Given the description of an element on the screen output the (x, y) to click on. 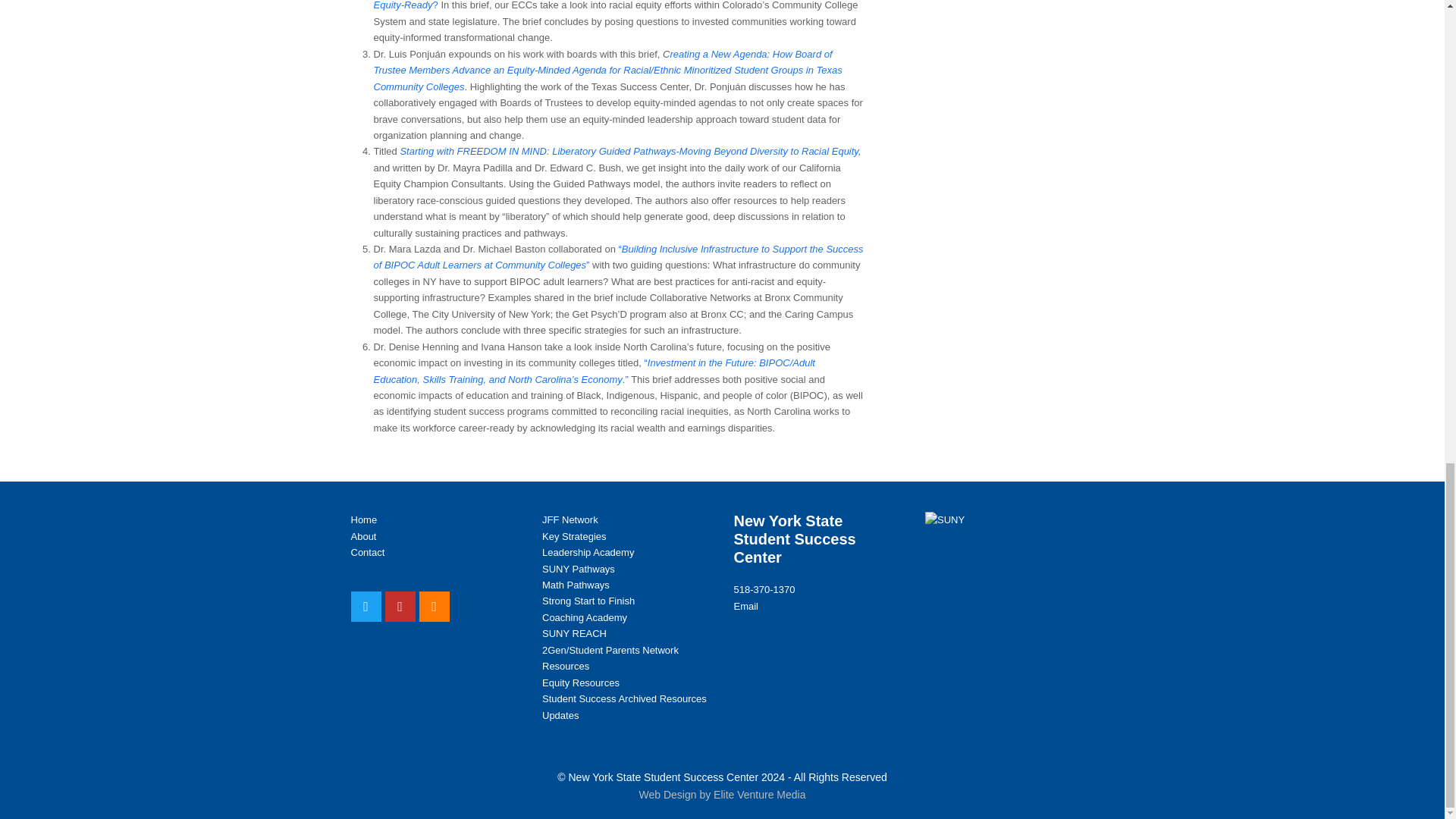
Contact (367, 552)
Home (363, 519)
RSS (433, 606)
Youtube (399, 606)
Web Design by Elite Venture Media (722, 794)
Twitter (365, 606)
About (362, 536)
